Given the description of an element on the screen output the (x, y) to click on. 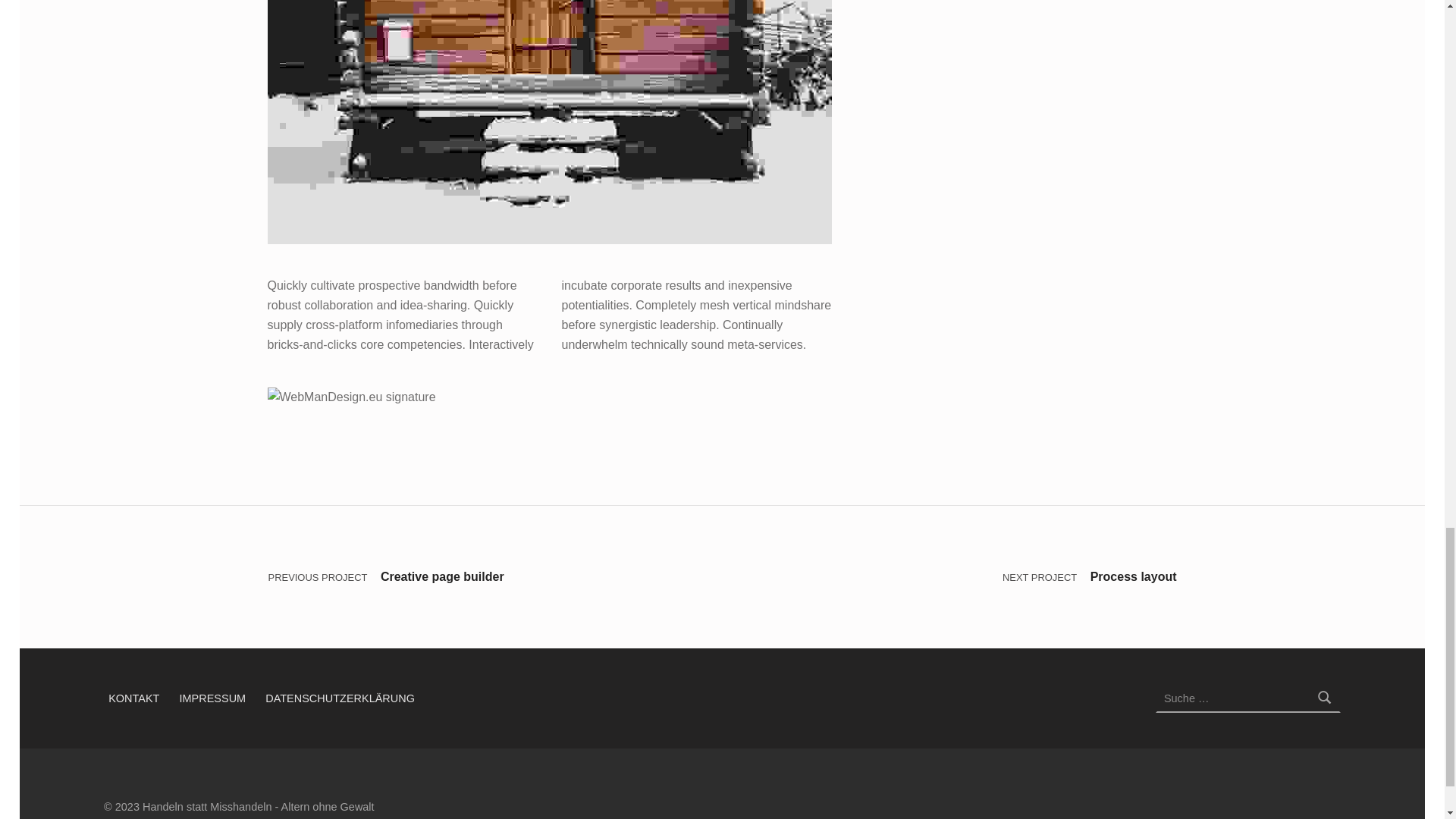
IMPRESSUM (212, 697)
KONTAKT (133, 697)
PREVIOUS PROJECT Creative page builder (494, 576)
NEXT PROJECT Process layout (949, 576)
